Given the description of an element on the screen output the (x, y) to click on. 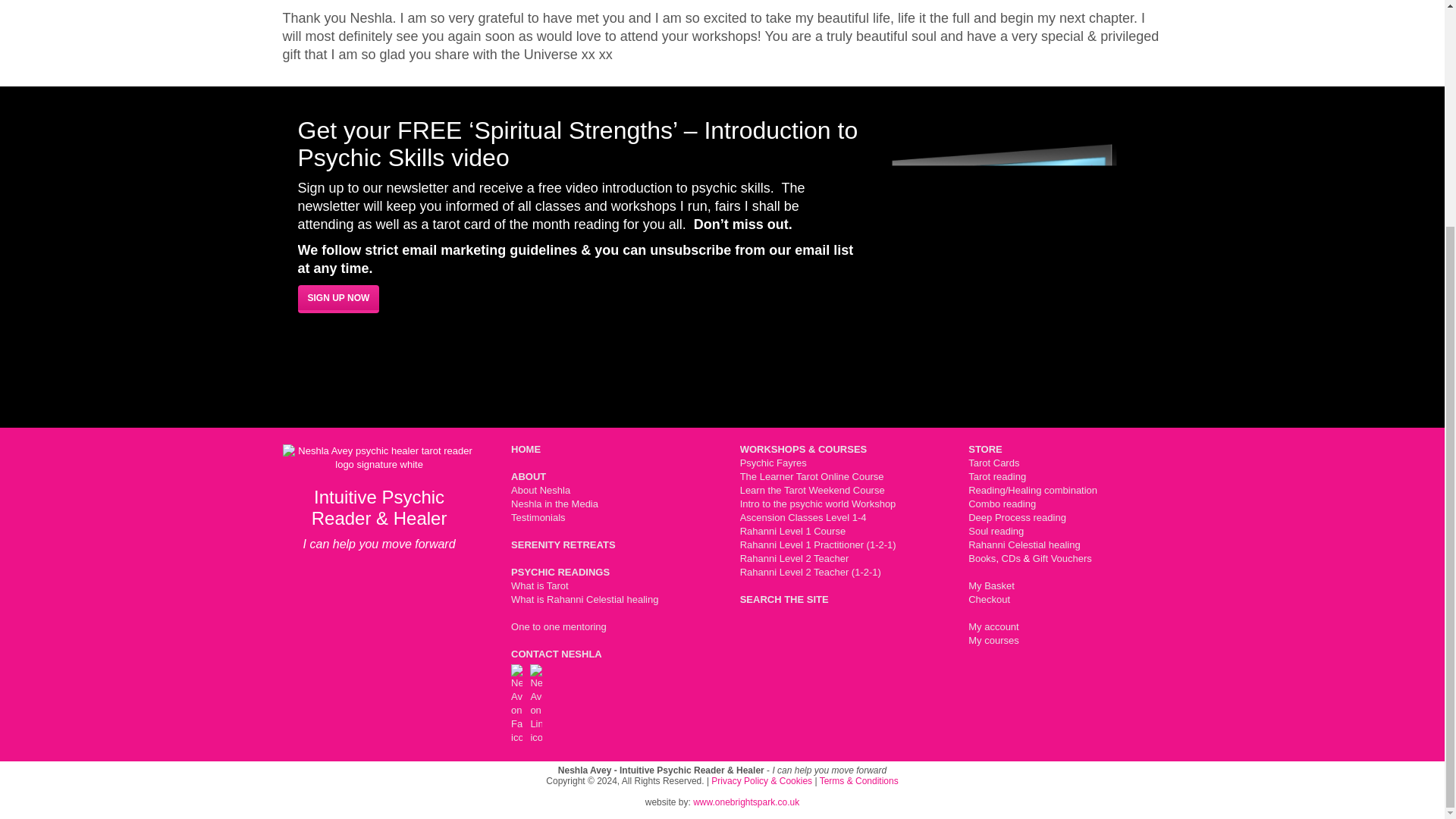
HOME (525, 449)
one bright spark web design (746, 801)
SIGN UP NOW (337, 298)
